Given the description of an element on the screen output the (x, y) to click on. 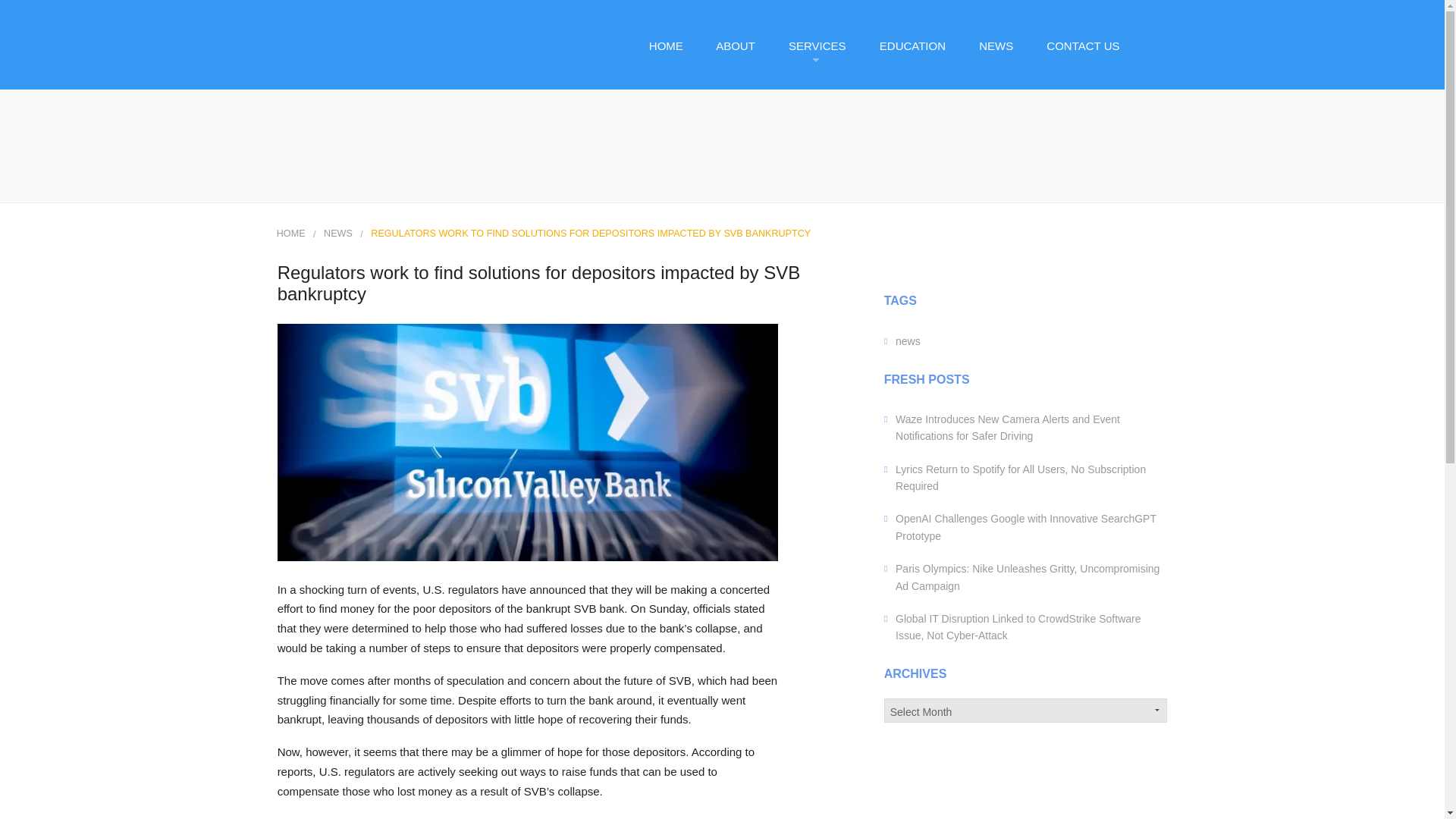
SERVICES (816, 45)
WEBSITE STRATEGY (831, 355)
news (907, 340)
CONTACT US (1082, 45)
BRAND MARKETING (831, 142)
HOME (290, 233)
DIGITAL MARKETING (831, 177)
EDUCATION (910, 45)
TRAFFIC BUYING. EMAIL OUTREACH (831, 319)
NEWS (994, 45)
OUTSOURCE LEAD GENERATION (831, 213)
HOME (664, 45)
OpenAI Challenges Google with Innovative SearchGPT Prototype (1025, 526)
